Given the description of an element on the screen output the (x, y) to click on. 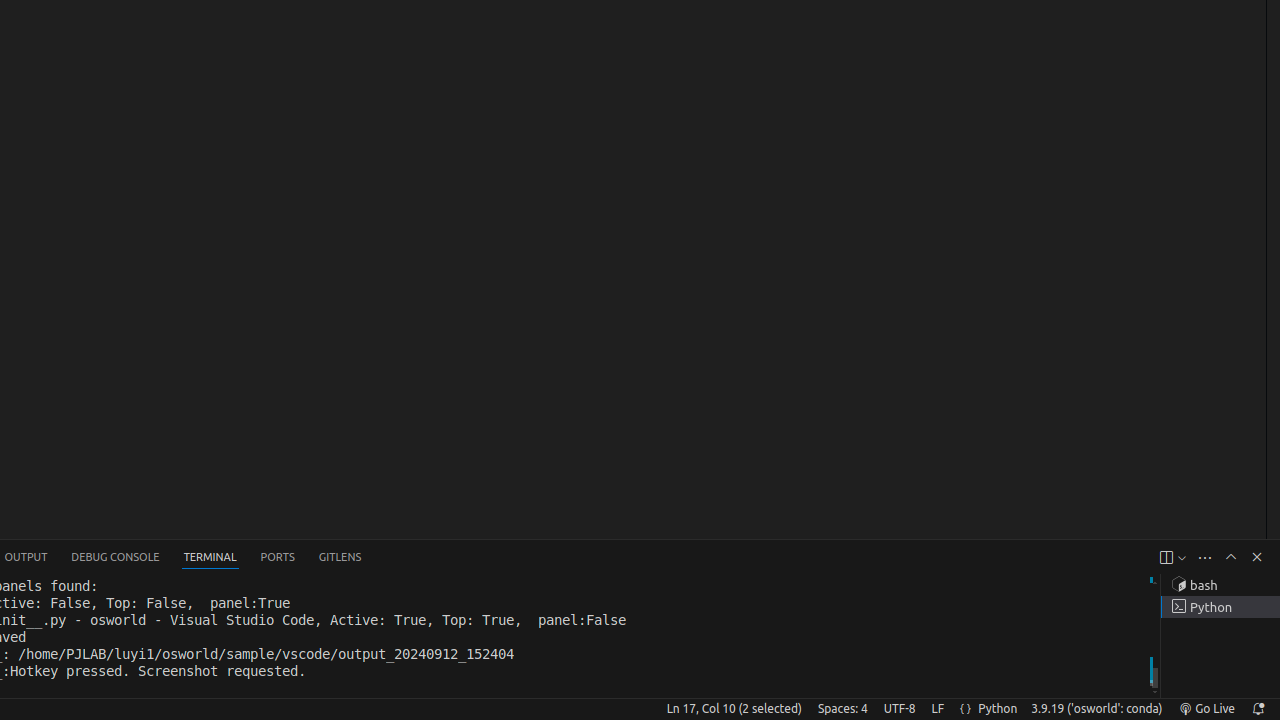
broadcast Go Live, Click to run live server Element type: push-button (1206, 709)
Terminal (Ctrl+`) Element type: page-tab (210, 557)
Hide Panel Element type: push-button (1257, 557)
Ports Element type: page-tab (277, 557)
Terminal 5 Python Element type: list-item (1220, 607)
